Given the description of an element on the screen output the (x, y) to click on. 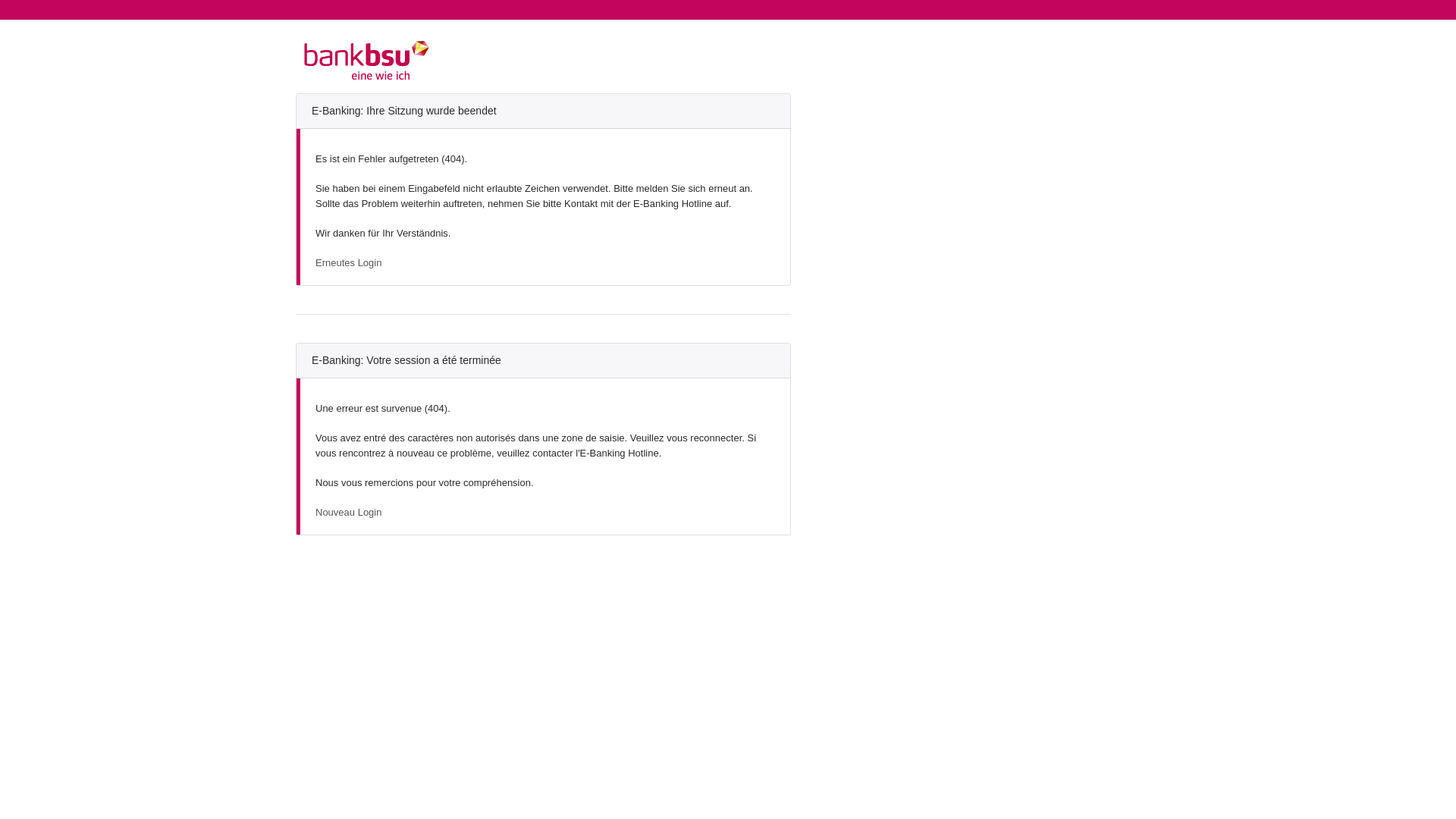
Nouveau Login Element type: text (348, 511)
Erneutes Login Element type: text (348, 261)
